Given the description of an element on the screen output the (x, y) to click on. 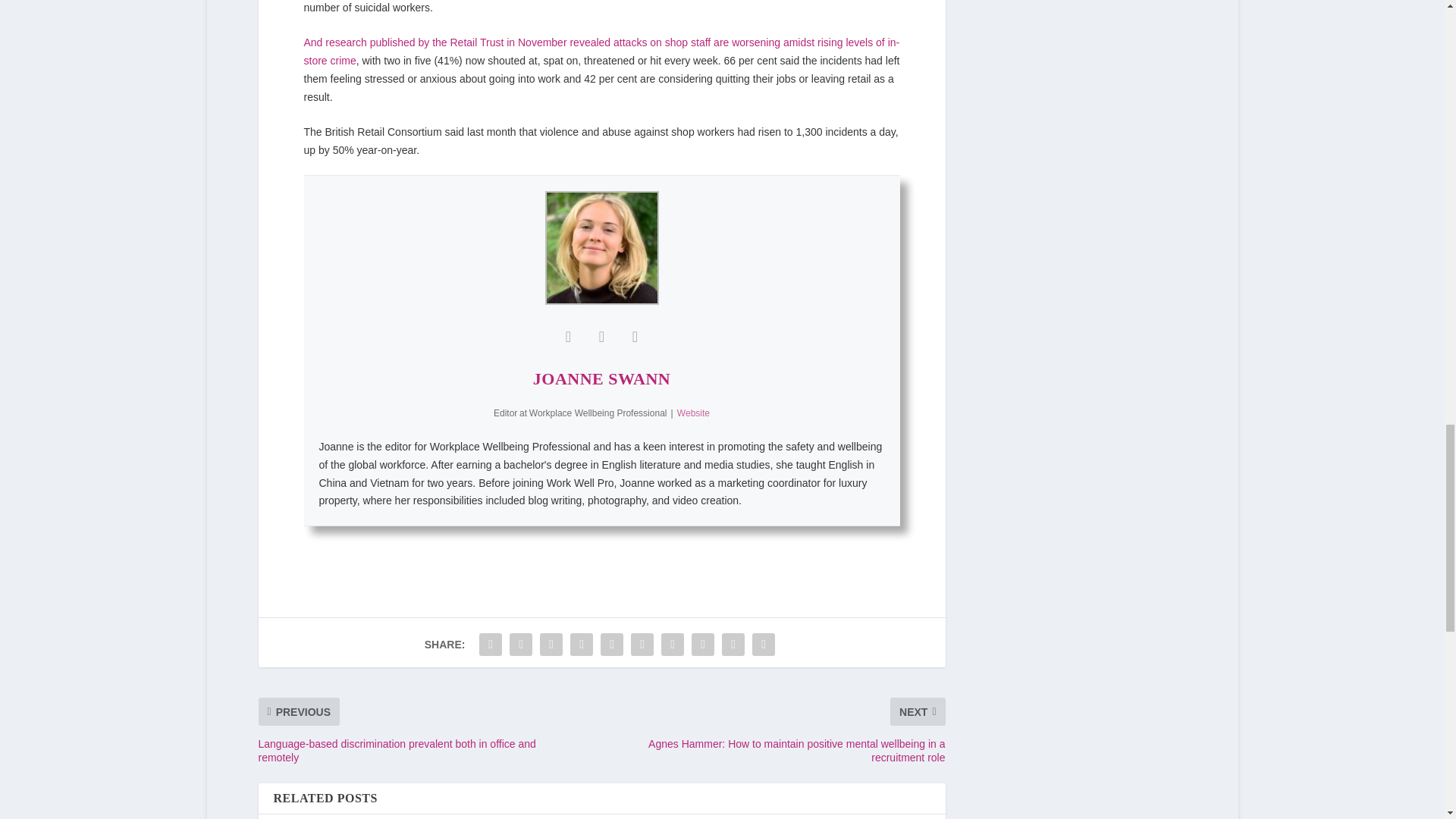
Website (693, 412)
